Given the description of an element on the screen output the (x, y) to click on. 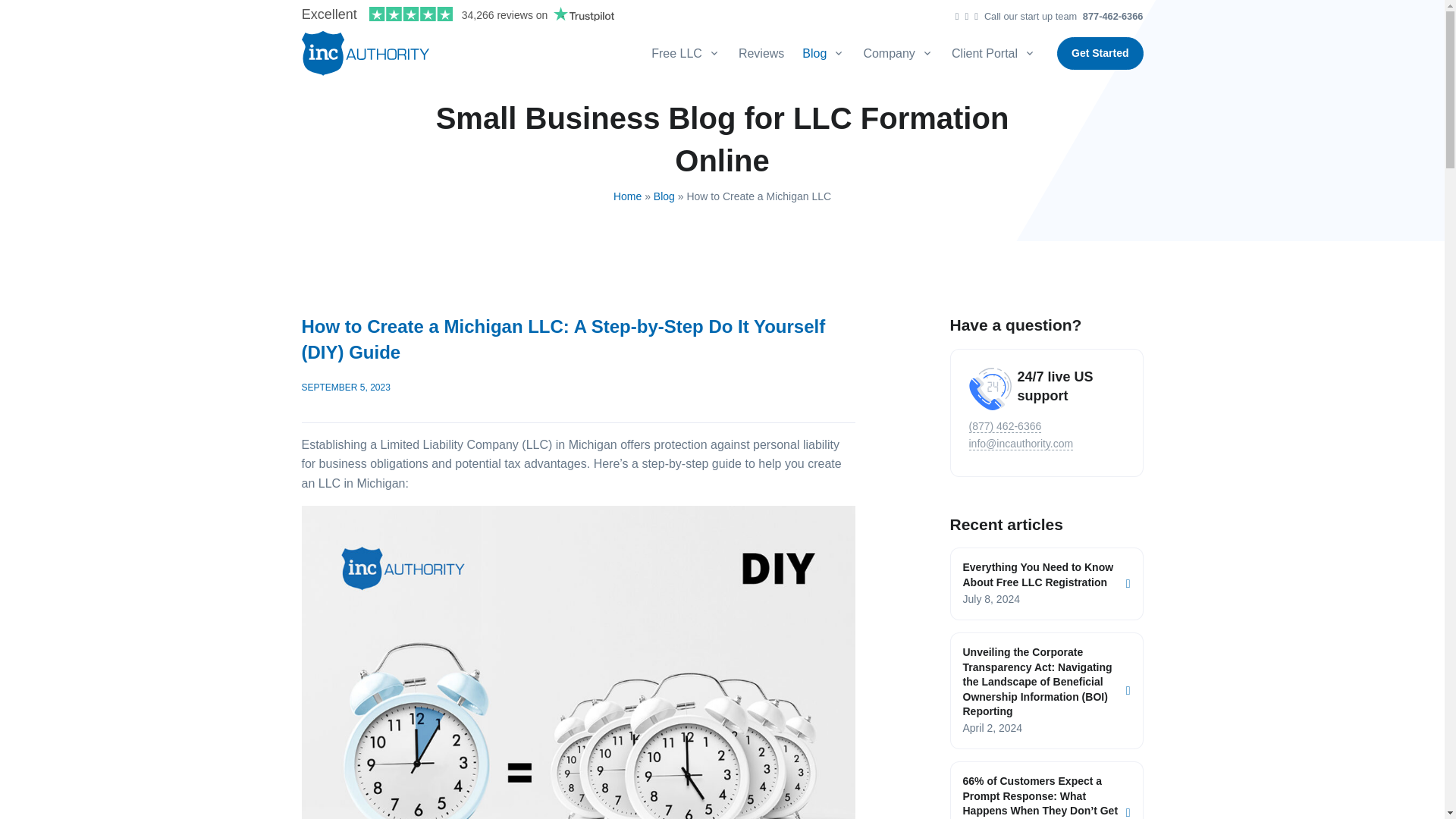
Customer reviews powered by Trustpilot (457, 13)
Home (627, 196)
Blog (823, 53)
Get Started (1099, 52)
SEPTEMBER 5, 2023 (345, 387)
Blog (664, 196)
Call our start up team 877-462-6366 (1058, 16)
Company (897, 53)
Free LLC (689, 53)
Reviews (761, 53)
Client Portal (993, 53)
